Given the description of an element on the screen output the (x, y) to click on. 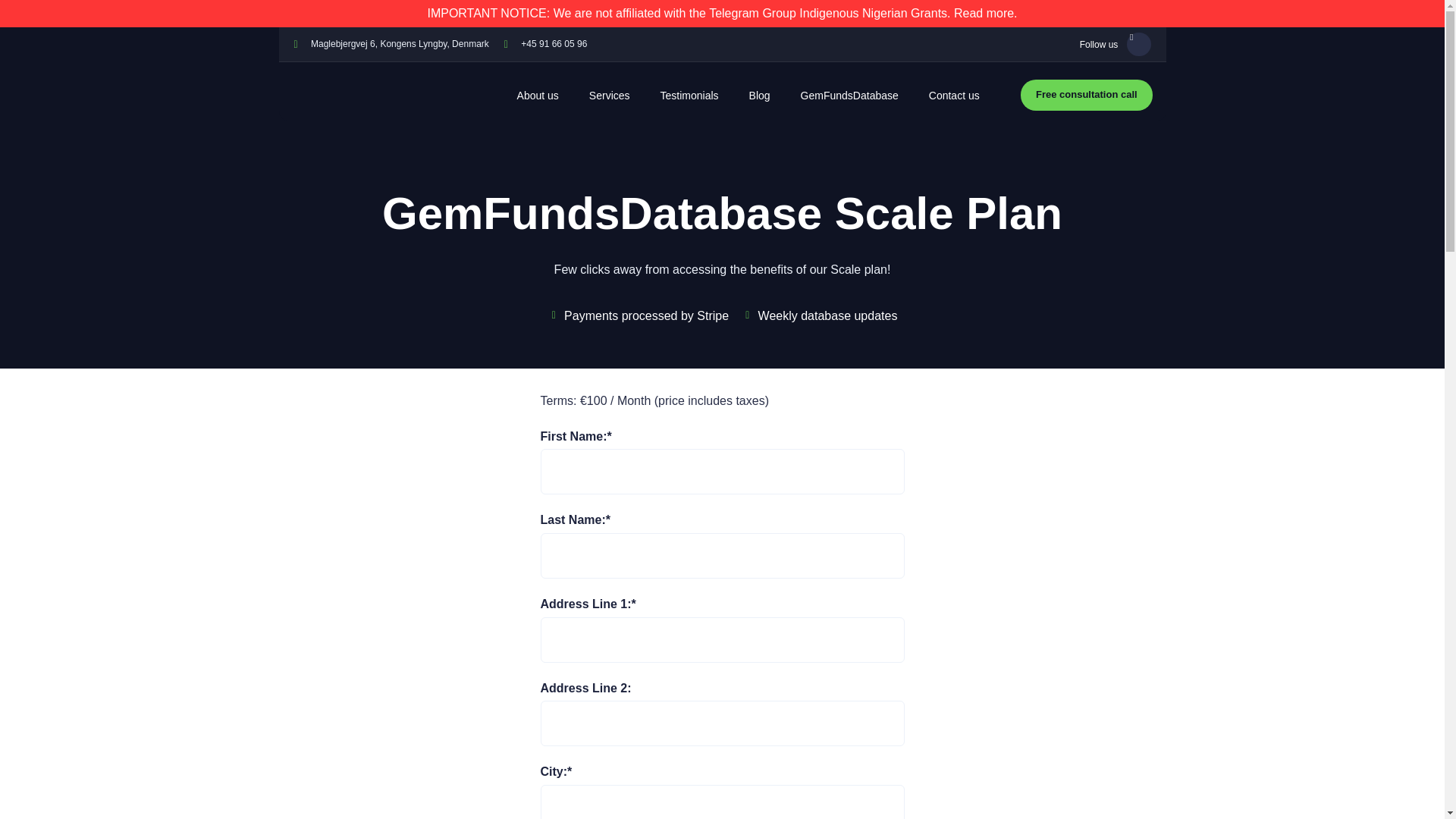
About us (537, 94)
Services (609, 94)
Blog (759, 94)
Free consultation call (1086, 94)
Testimonials (689, 94)
Contact us (954, 94)
GemFundsDatabase (850, 94)
